Given the description of an element on the screen output the (x, y) to click on. 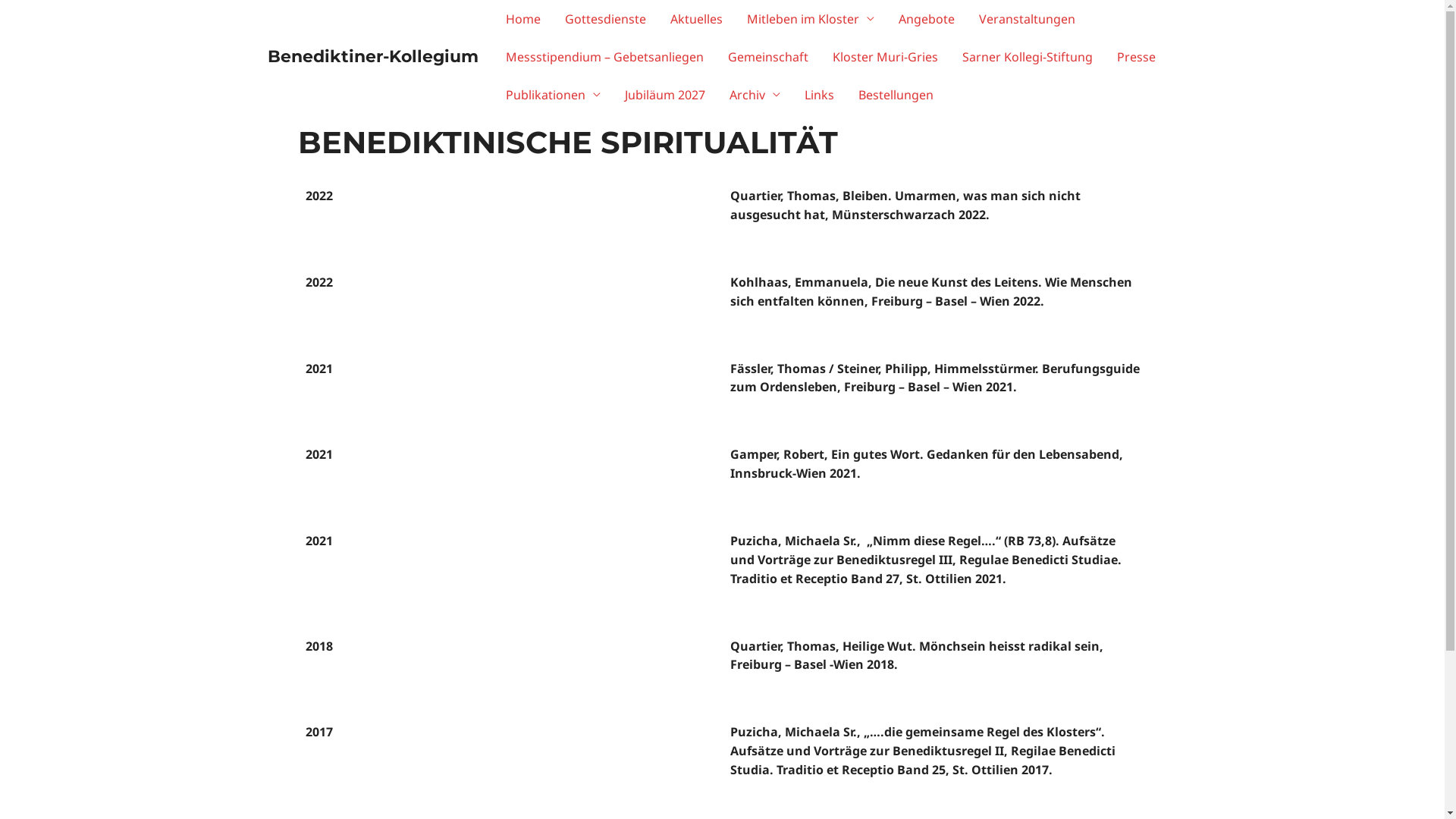
Bestellungen Element type: text (895, 94)
Veranstaltungen Element type: text (1026, 18)
Home Element type: text (522, 18)
Presse Element type: text (1135, 56)
Kloster Muri-Gries Element type: text (885, 56)
Angebote Element type: text (925, 18)
Publikationen Element type: text (551, 94)
Aktuelles Element type: text (696, 18)
Gottesdienste Element type: text (604, 18)
Benediktiner-Kollegium Element type: text (371, 56)
Gemeinschaft Element type: text (767, 56)
Links Element type: text (818, 94)
Mitleben im Kloster Element type: text (809, 18)
Sarner Kollegi-Stiftung Element type: text (1026, 56)
Archiv Element type: text (754, 94)
